Given the description of an element on the screen output the (x, y) to click on. 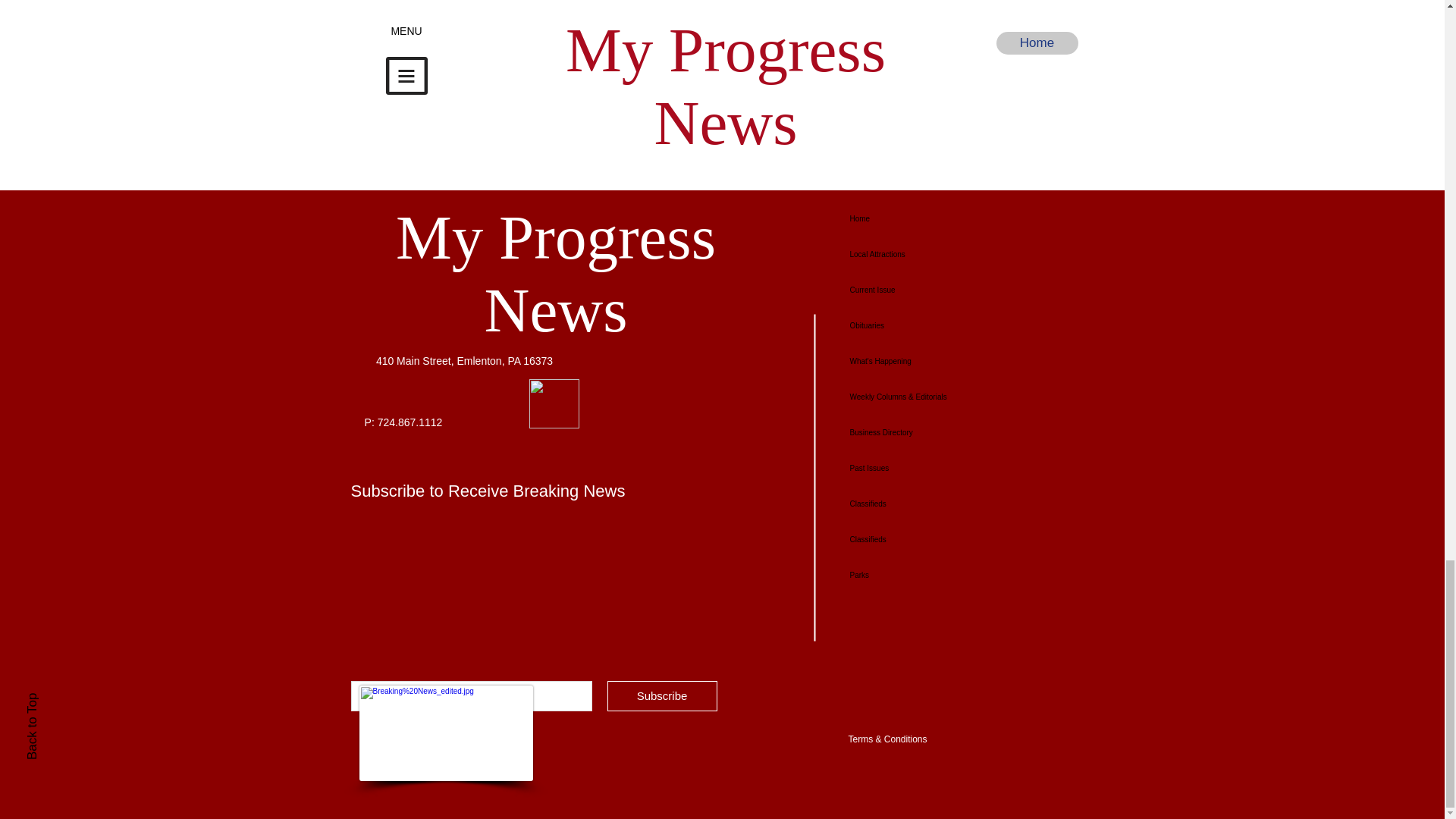
Obituaries (946, 325)
P: 724.867.1112 (403, 422)
Local Attractions (946, 253)
Post not marked as liked (558, 133)
Parks (946, 574)
0 (691, 133)
Home (946, 218)
0 (926, 133)
Post not marked as liked (1050, 133)
Subscribe (661, 695)
0 (453, 133)
Current Issue (946, 289)
Classifieds (946, 539)
The Christophers: Carlo Acutis Points Us Toward Heaven (967, 81)
